Given the description of an element on the screen output the (x, y) to click on. 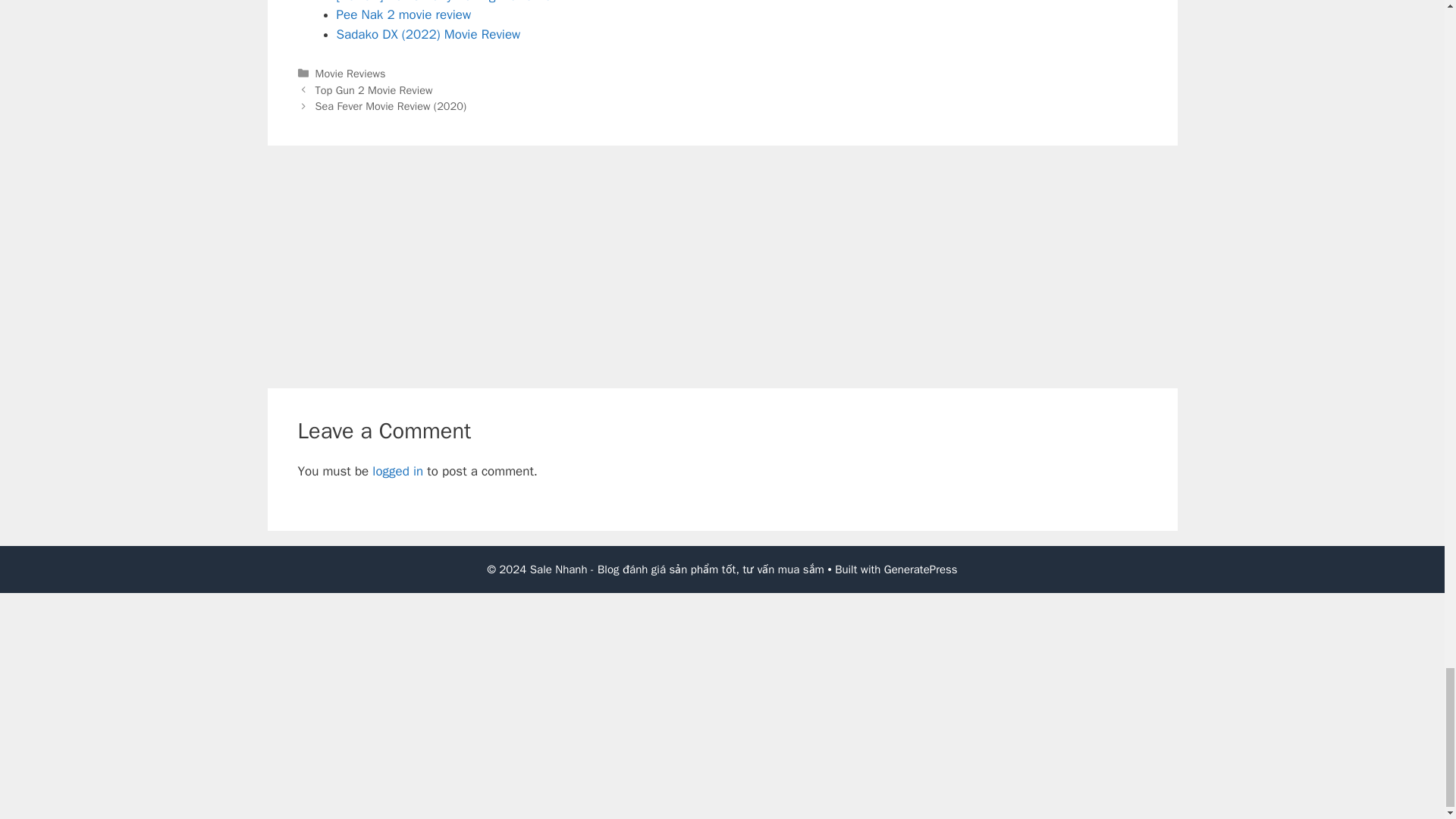
logged in (397, 471)
Movie Reviews (350, 73)
Top Gun 2 Movie Review (373, 90)
GeneratePress (920, 569)
Pee Nak 2 movie review (403, 14)
